Given the description of an element on the screen output the (x, y) to click on. 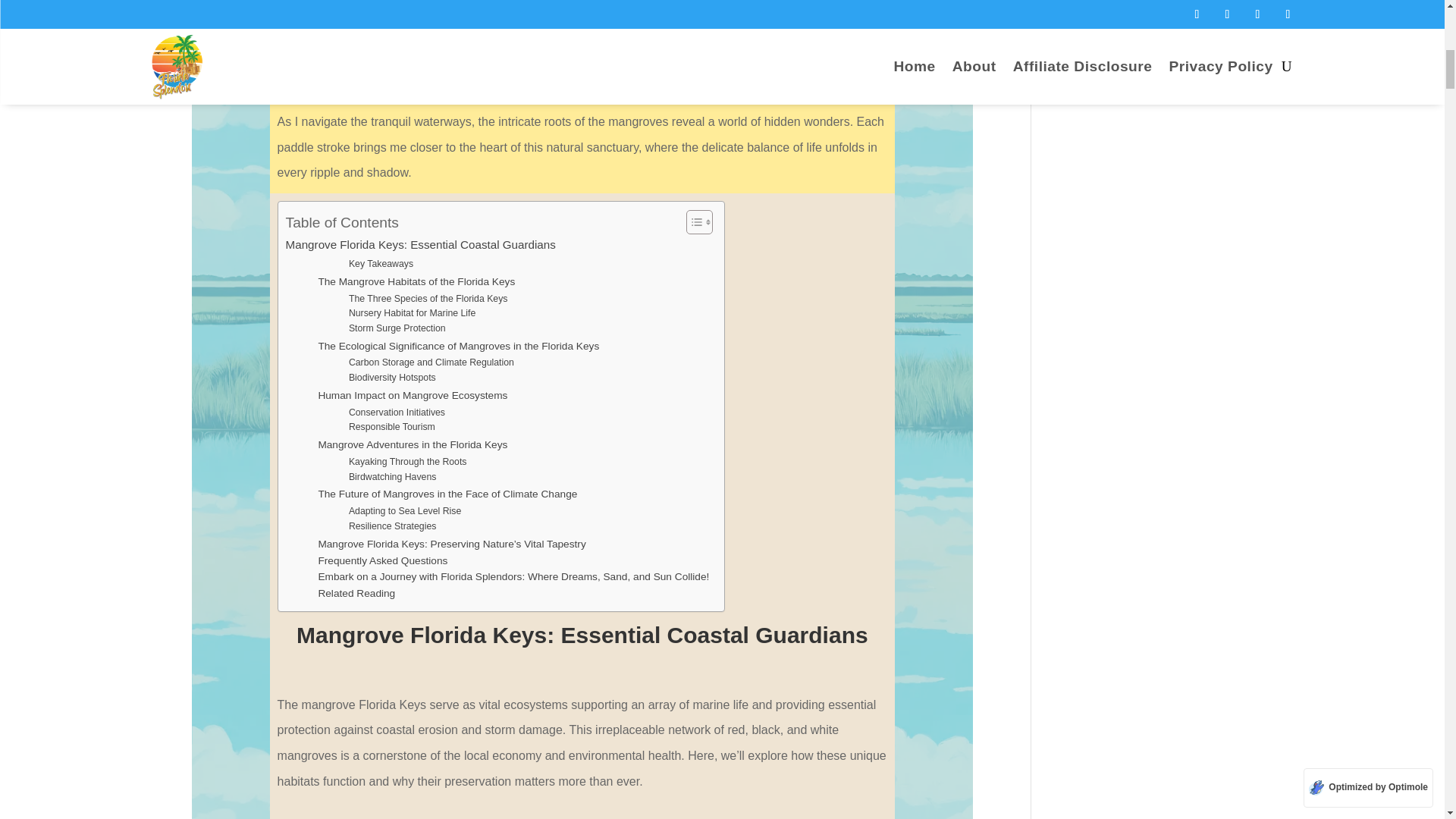
Responsible Tourism (392, 427)
Mangrove Florida Keys: Essential Coastal Guardians (420, 244)
The Mangrove Habitats of the Florida Keys (416, 281)
Related Reading (355, 593)
Mangrove Adventures in the Florida Keys (411, 444)
Birdwatching Havens (392, 477)
Conservation Initiatives (397, 412)
Frequently Asked Questions (381, 560)
Biodiversity Hotspots (392, 378)
Carbon Storage and Climate Regulation (431, 363)
